Given the description of an element on the screen output the (x, y) to click on. 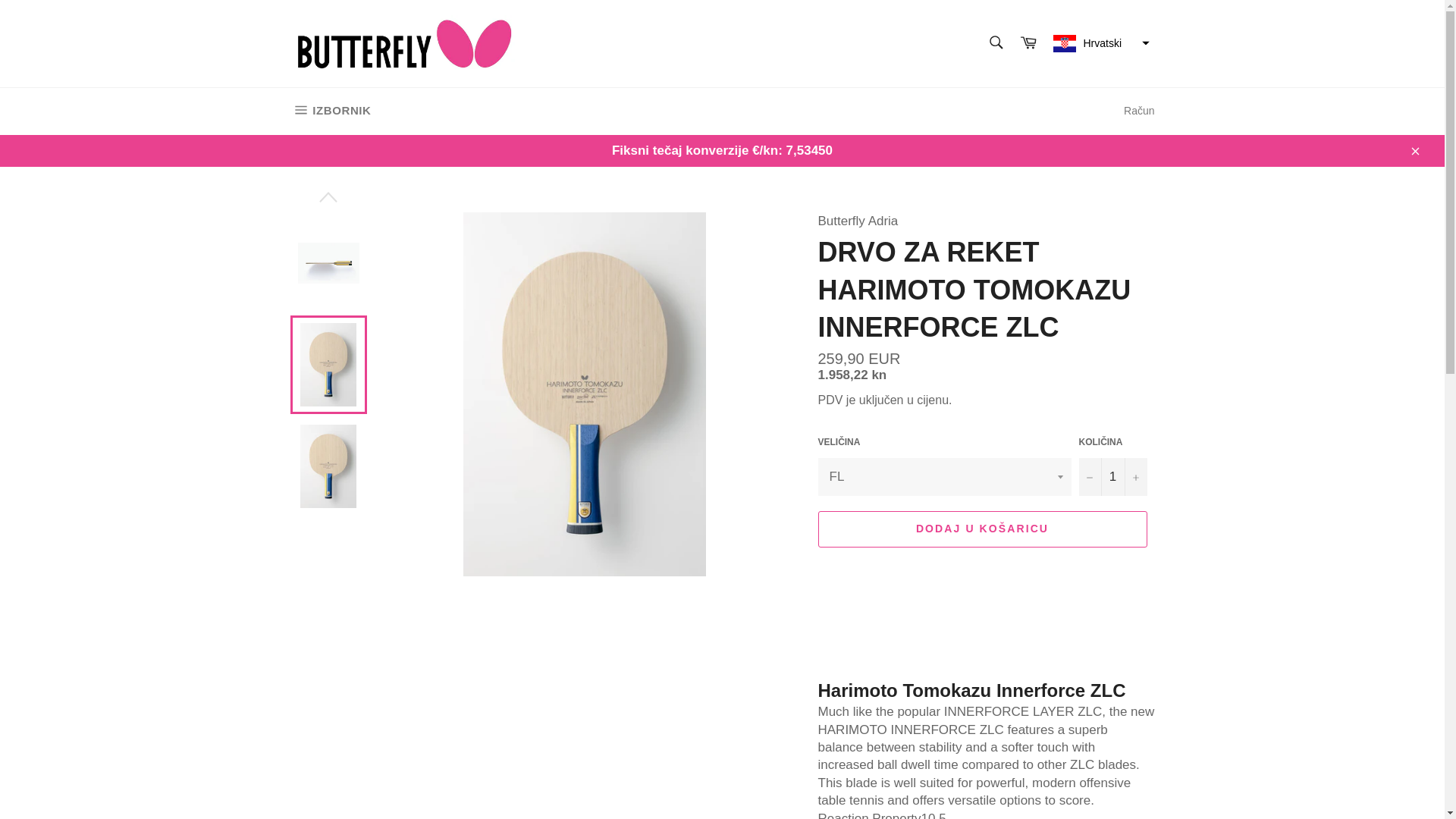
1 (1112, 476)
